Given the description of an element on the screen output the (x, y) to click on. 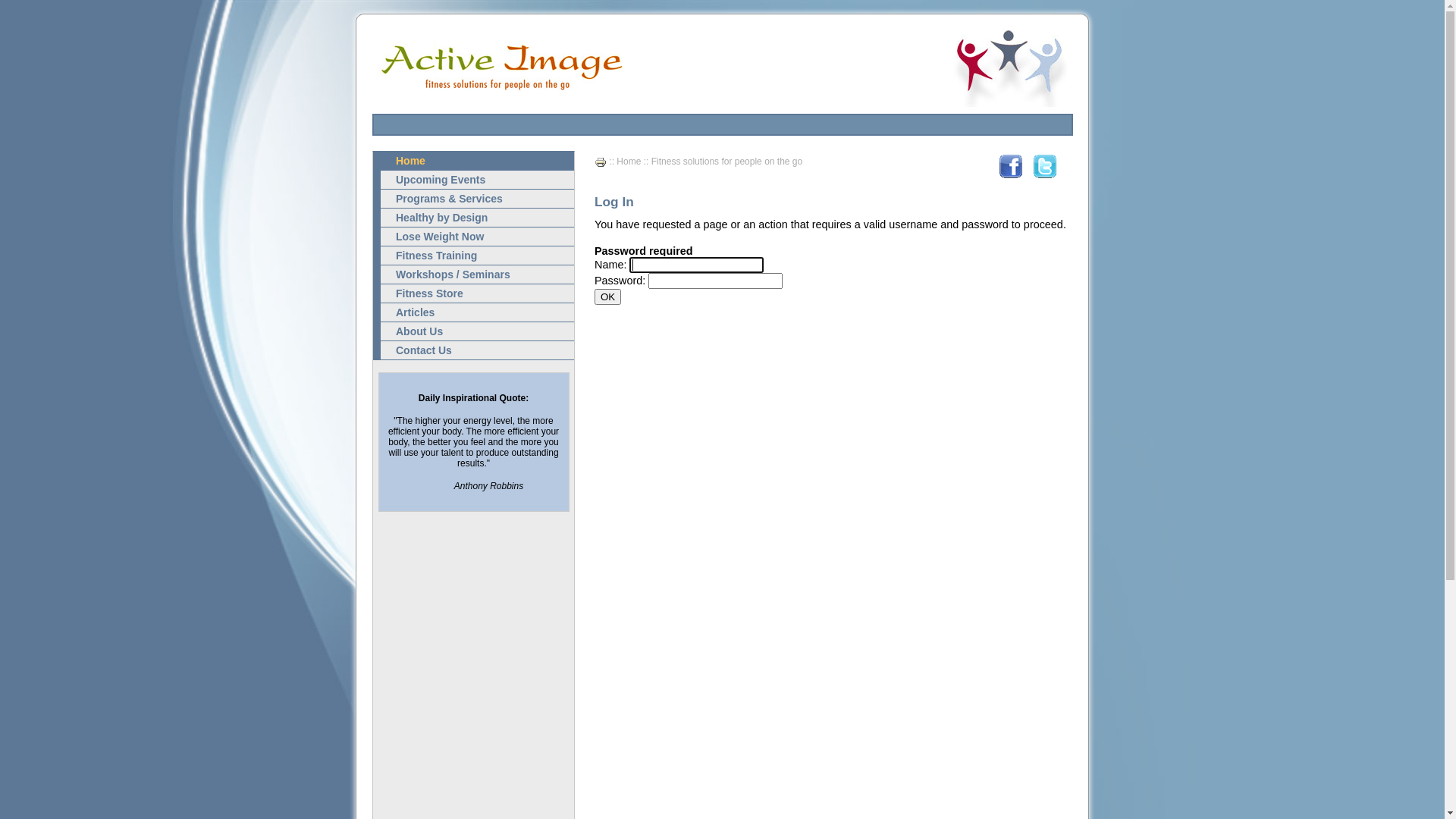
Home Element type: text (473, 160)
Contact Us Element type: text (473, 350)
Active Image Element type: hover (1009, 64)
Lose Weight Now Element type: text (473, 236)
Fitness Store Element type: text (473, 293)
Fitness Training Element type: text (473, 255)
Workshops / Seminars Element type: text (473, 274)
Home Element type: text (628, 161)
OK Element type: text (607, 296)
Programs & Services Element type: text (473, 198)
About Us Element type: text (473, 331)
Upcoming Events Element type: text (473, 179)
Printer-Friendly Version Element type: hover (600, 162)
Articles Element type: text (473, 312)
Healthy by Design Element type: text (473, 217)
